Given the description of an element on the screen output the (x, y) to click on. 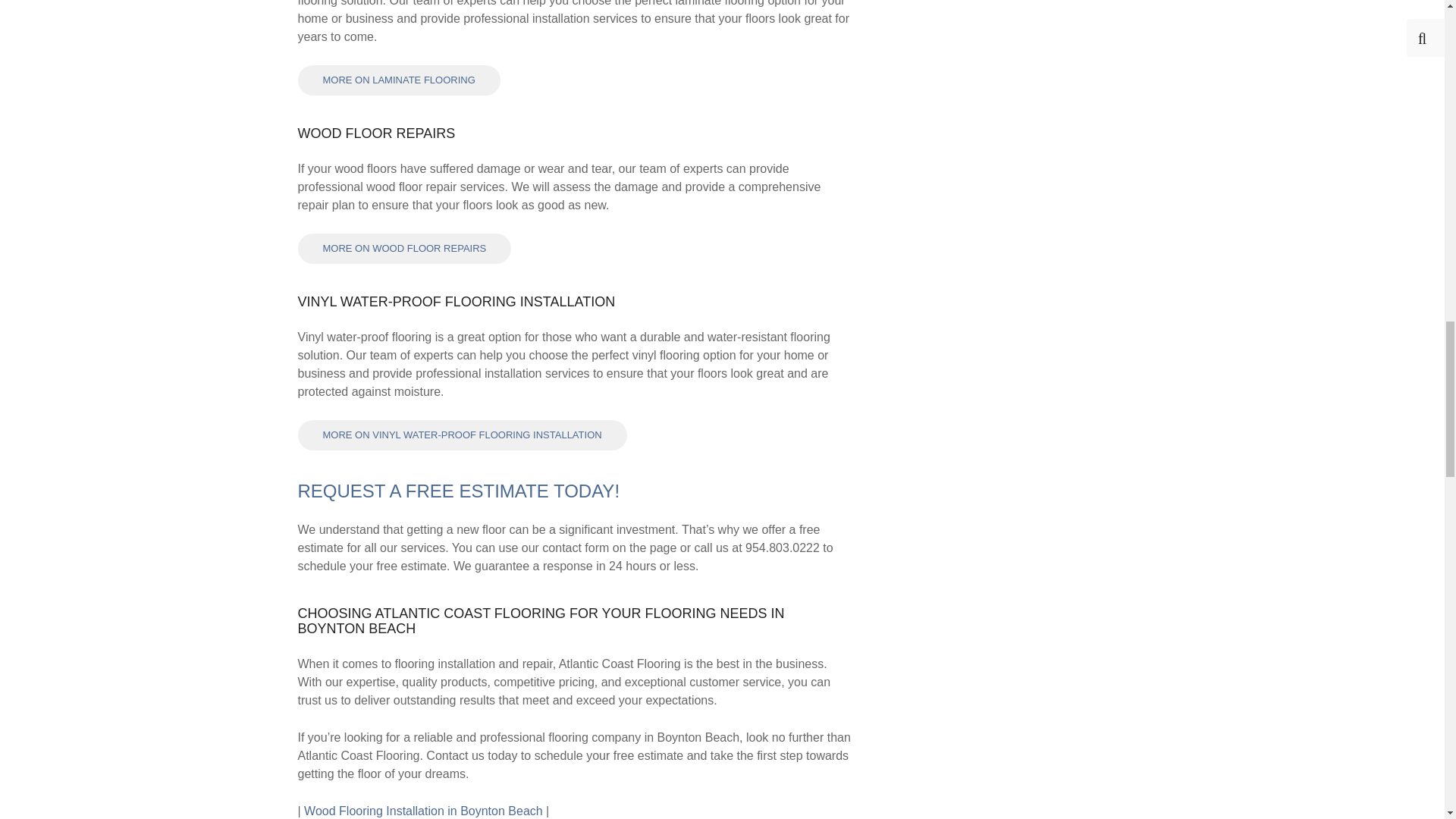
MORE ON VINYL WATER-PROOF FLOORING INSTALLATION (461, 435)
Wood Flooring Installation in Boynton Beach (423, 810)
MORE ON WOOD FLOOR REPAIRS (404, 248)
MORE ON LAMINATE FLOORING (398, 80)
